Given the description of an element on the screen output the (x, y) to click on. 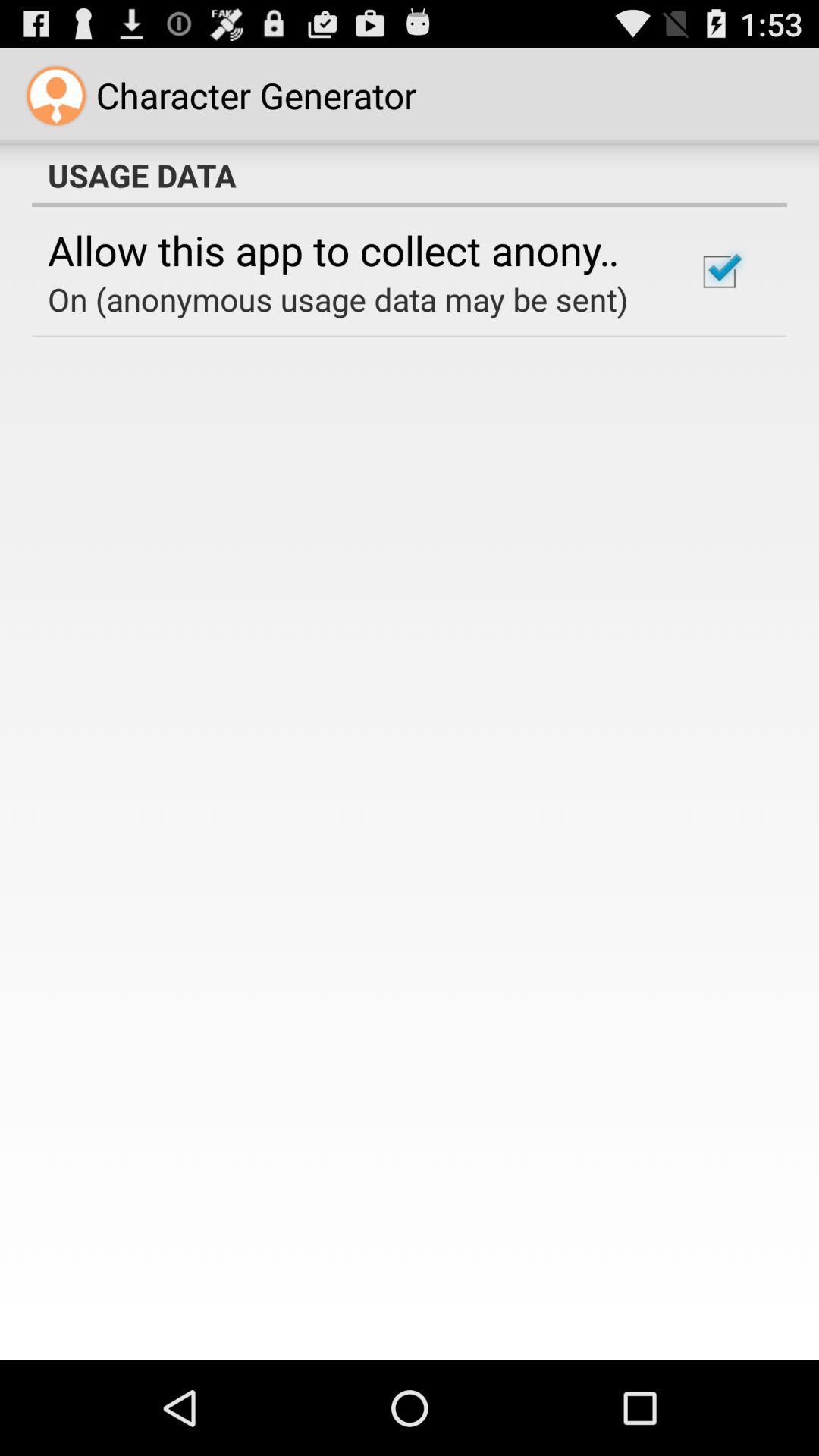
open the app below usage data app (351, 249)
